Given the description of an element on the screen output the (x, y) to click on. 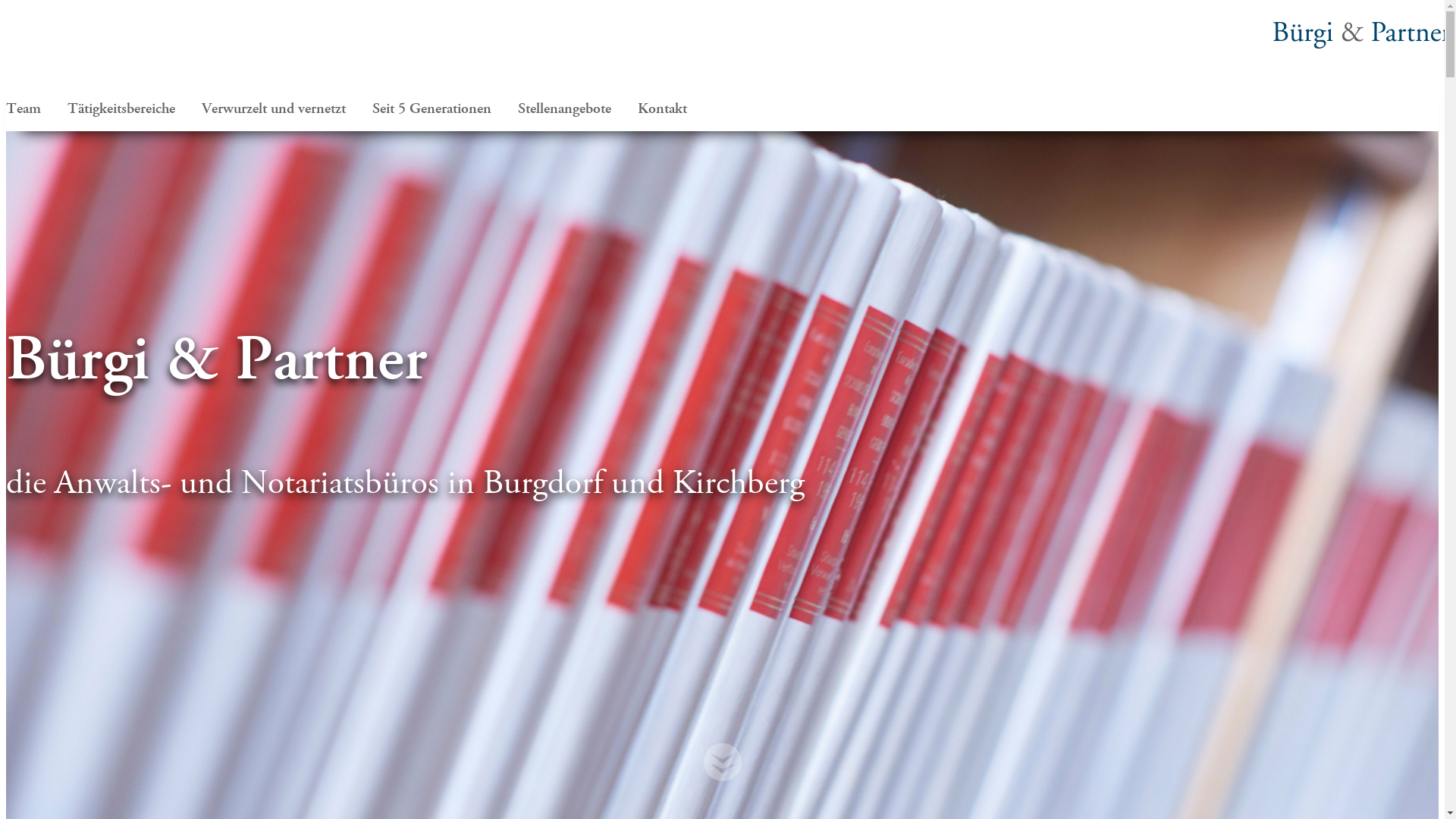
Stellenangebote Element type: text (579, 108)
Seit 5 Generationen Element type: text (446, 108)
Team Element type: text (38, 108)
Kontakt Element type: text (677, 108)
Verwurzelt und vernetzt Element type: text (288, 108)
zur Startseite Element type: hover (1361, 41)
